Given the description of an element on the screen output the (x, y) to click on. 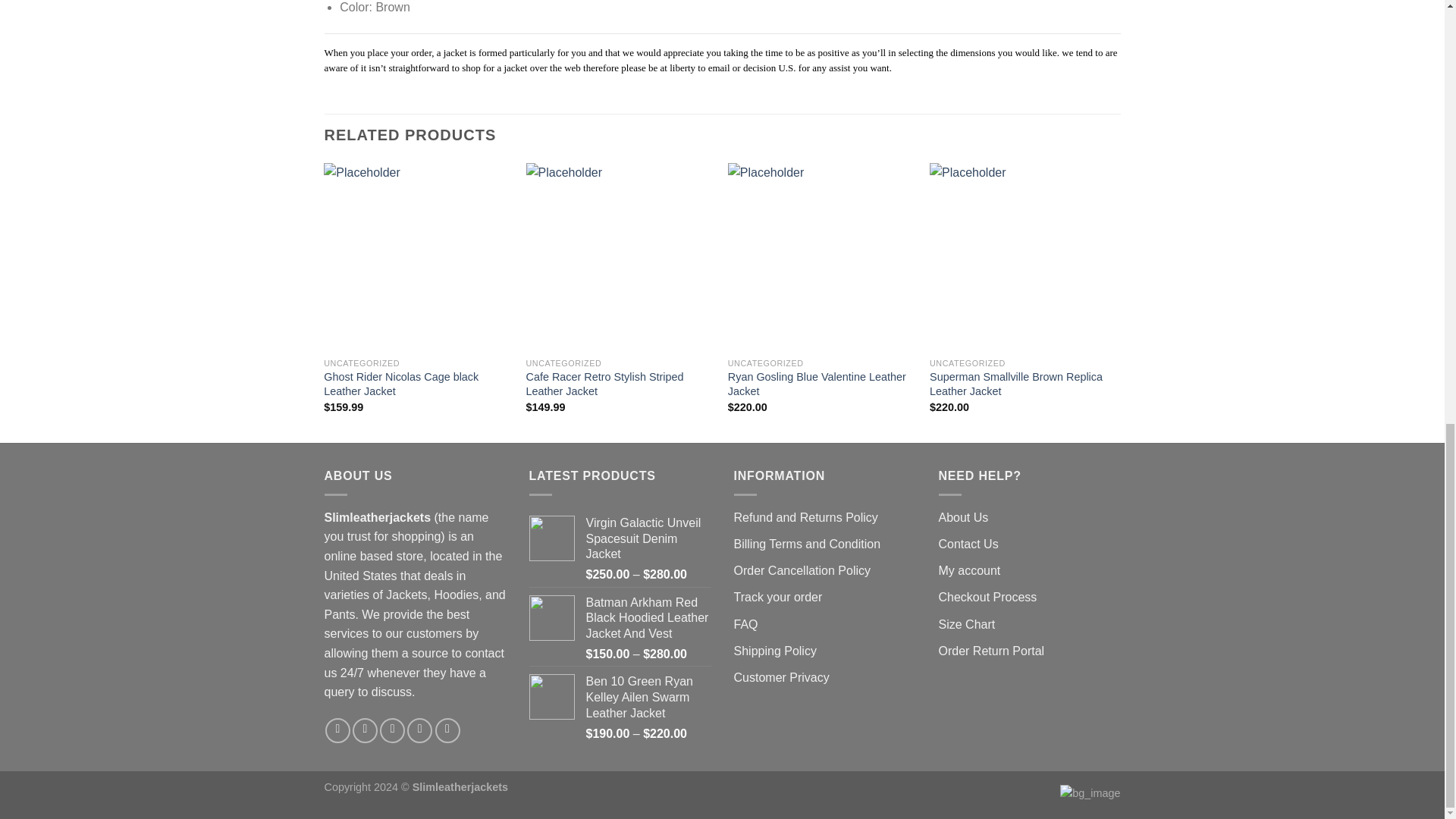
Follow on Facebook (337, 730)
